Given the description of an element on the screen output the (x, y) to click on. 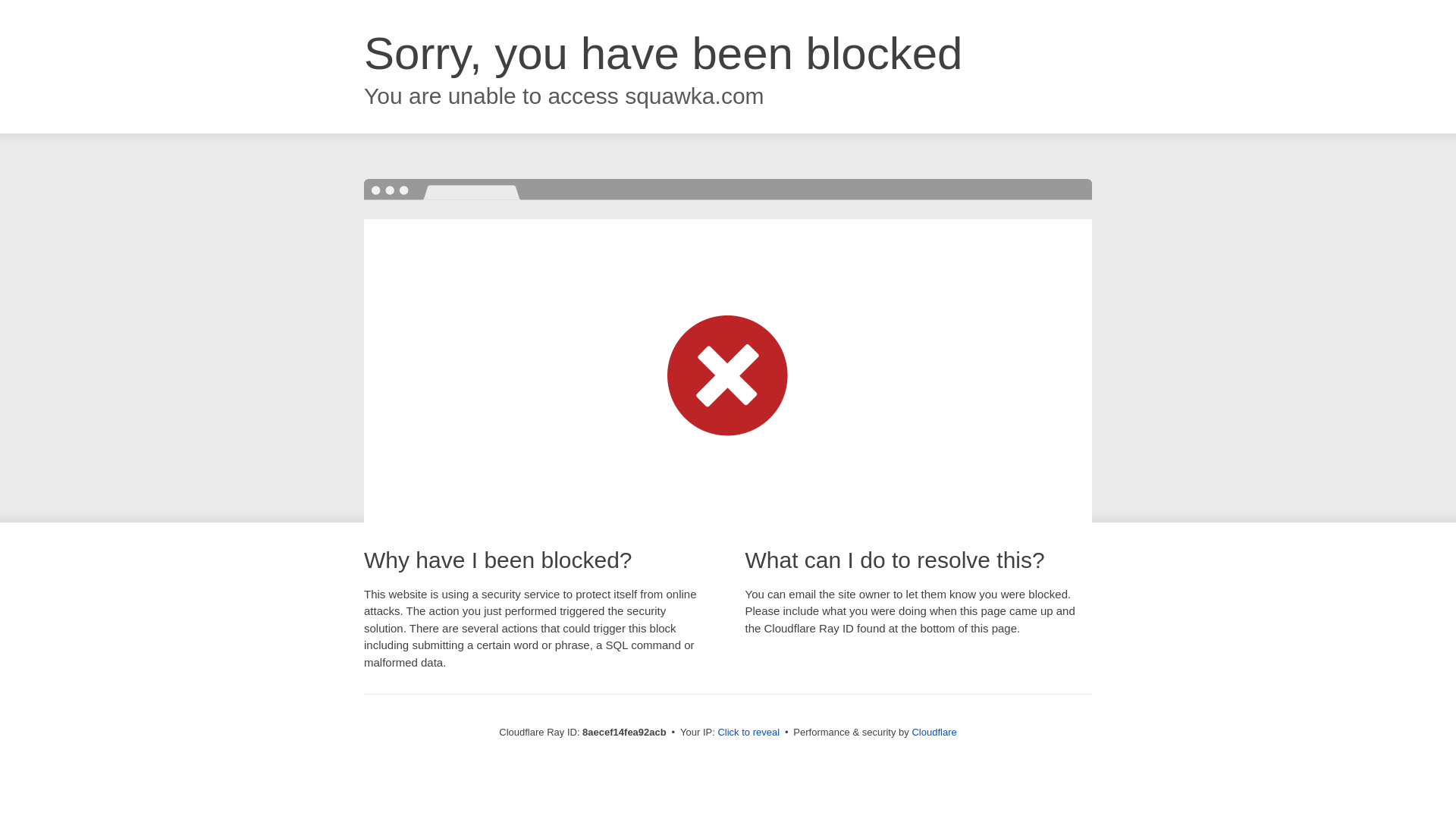
Click to reveal (747, 732)
Cloudflare (933, 731)
